Given the description of an element on the screen output the (x, y) to click on. 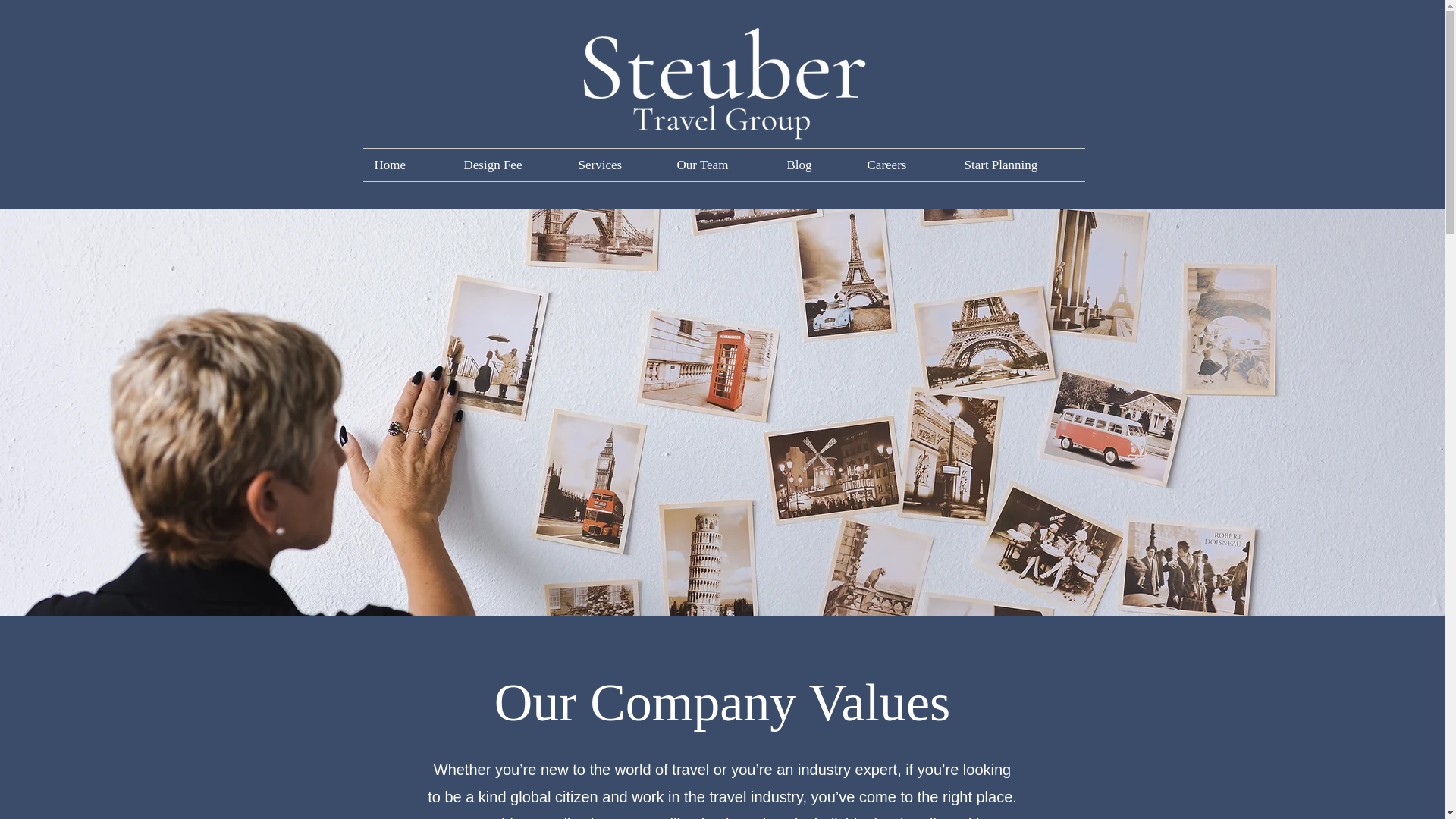
Start Planning (1018, 164)
Blog (815, 164)
Services (616, 164)
Design Fee (508, 164)
Home (406, 164)
Our Team (720, 164)
Careers (904, 164)
